Given the description of an element on the screen output the (x, y) to click on. 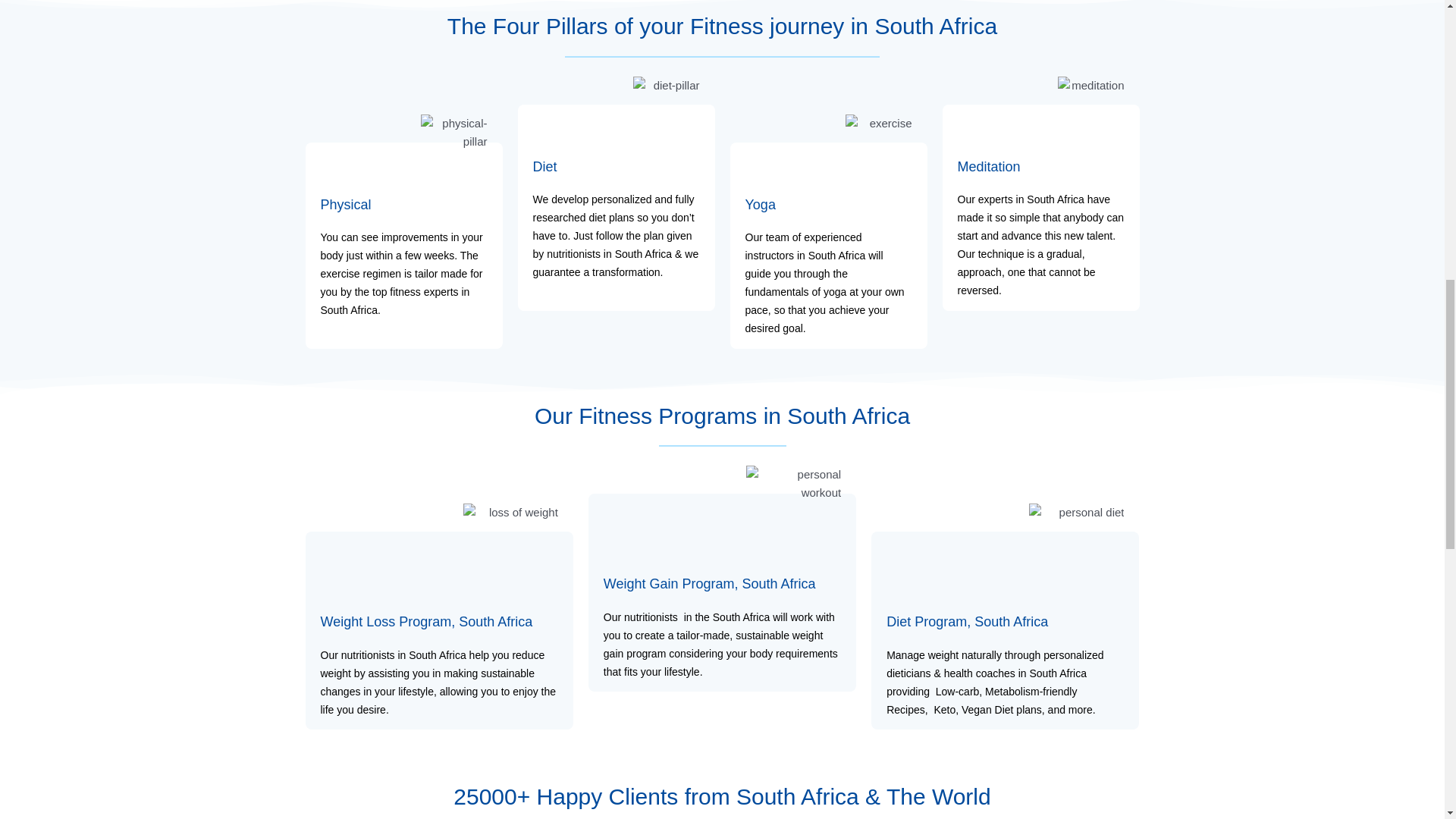
Weight Gain Program, South Africa (709, 583)
Diet Program, South Africa (967, 621)
Weight Loss Program, South Africa (426, 621)
